Given the description of an element on the screen output the (x, y) to click on. 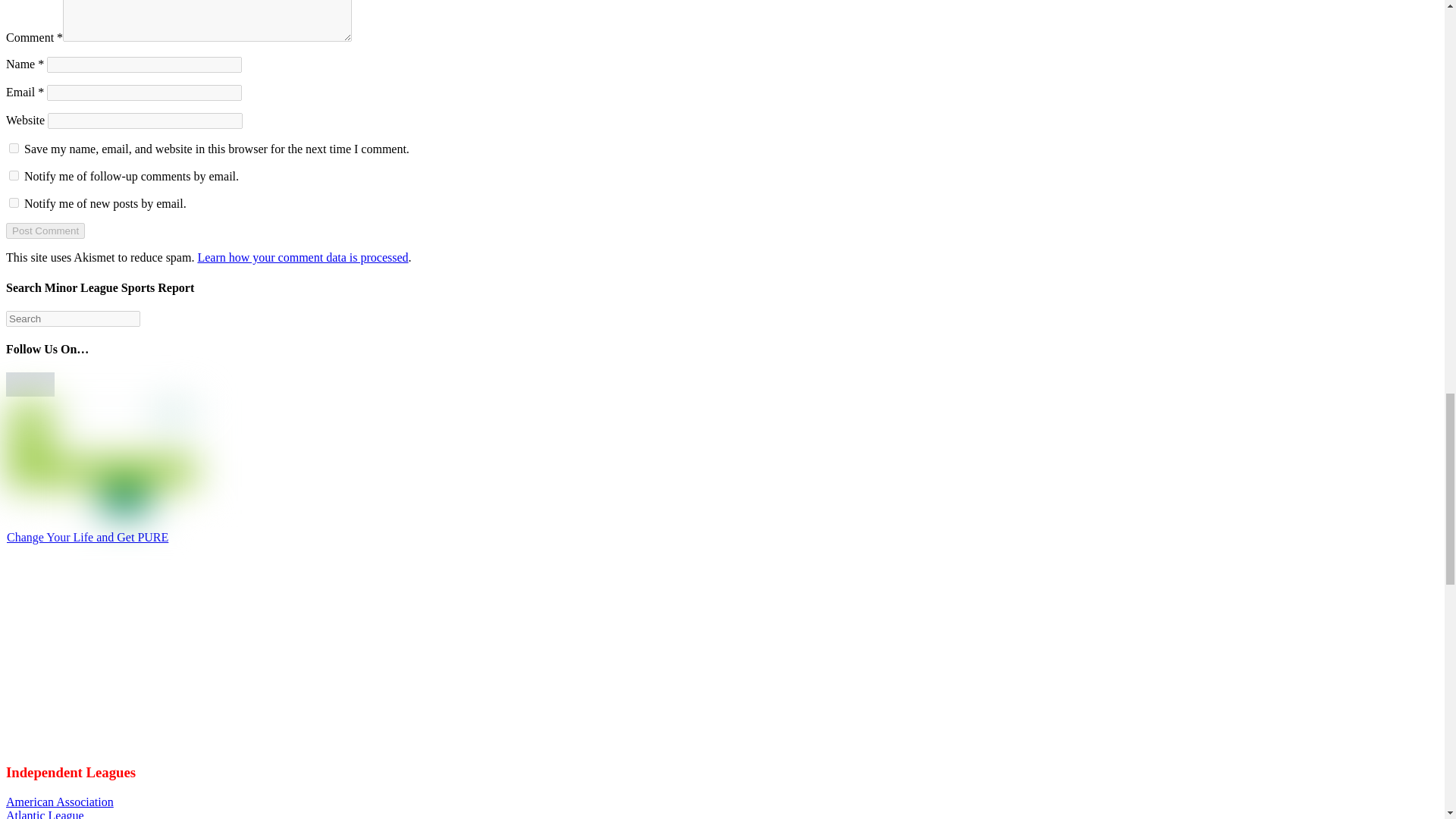
Post Comment (44, 230)
yes (13, 148)
Change Your Life and Get PURE (87, 536)
American Association (59, 801)
subscribe (13, 203)
Post Comment (44, 230)
Follow Us On... Facebook (17, 384)
subscribe (13, 175)
Learn how your comment data is processed (301, 256)
